Given the description of an element on the screen output the (x, y) to click on. 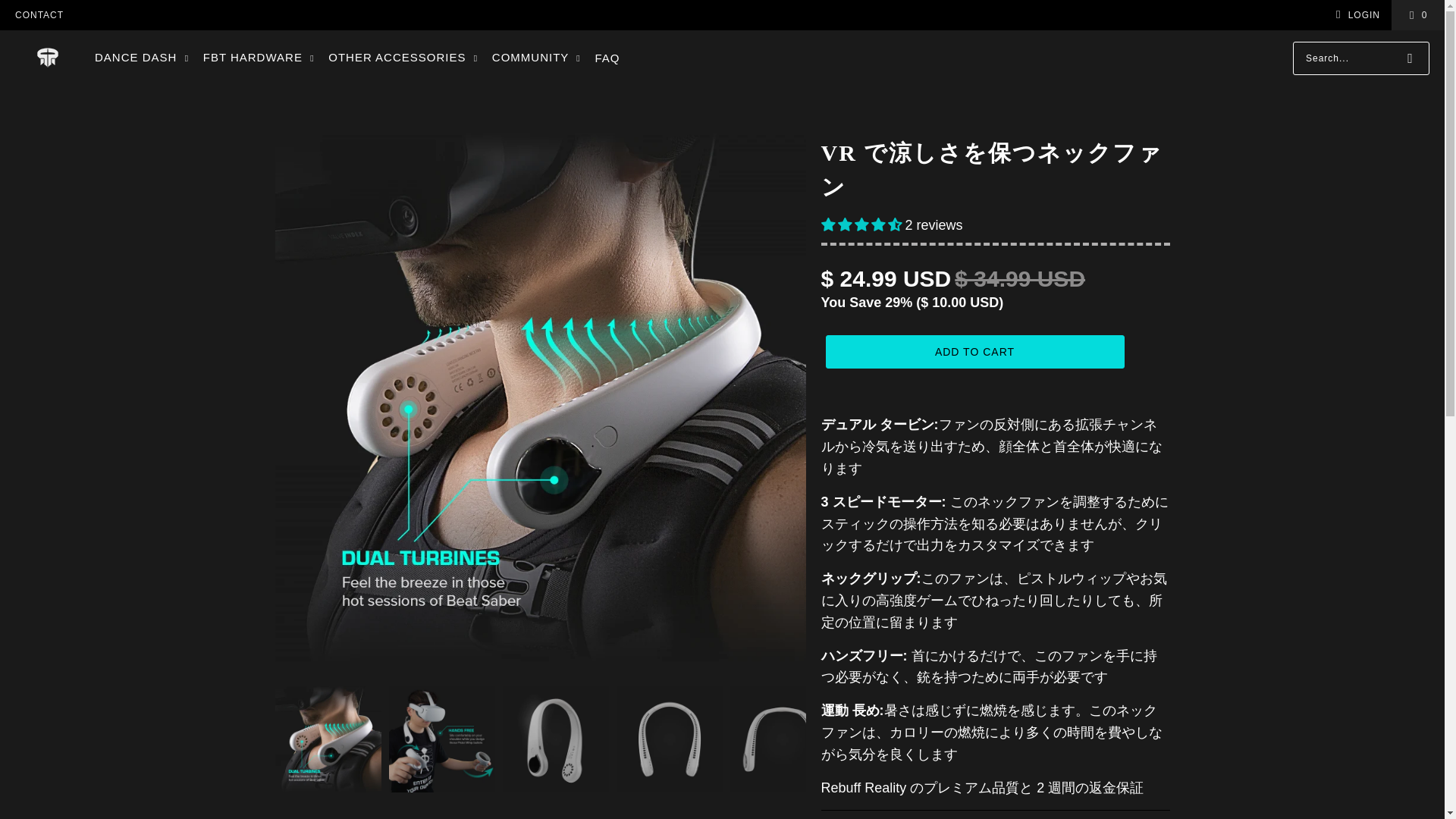
My Account  (1355, 15)
Rebuff Reality (47, 57)
